Given the description of an element on the screen output the (x, y) to click on. 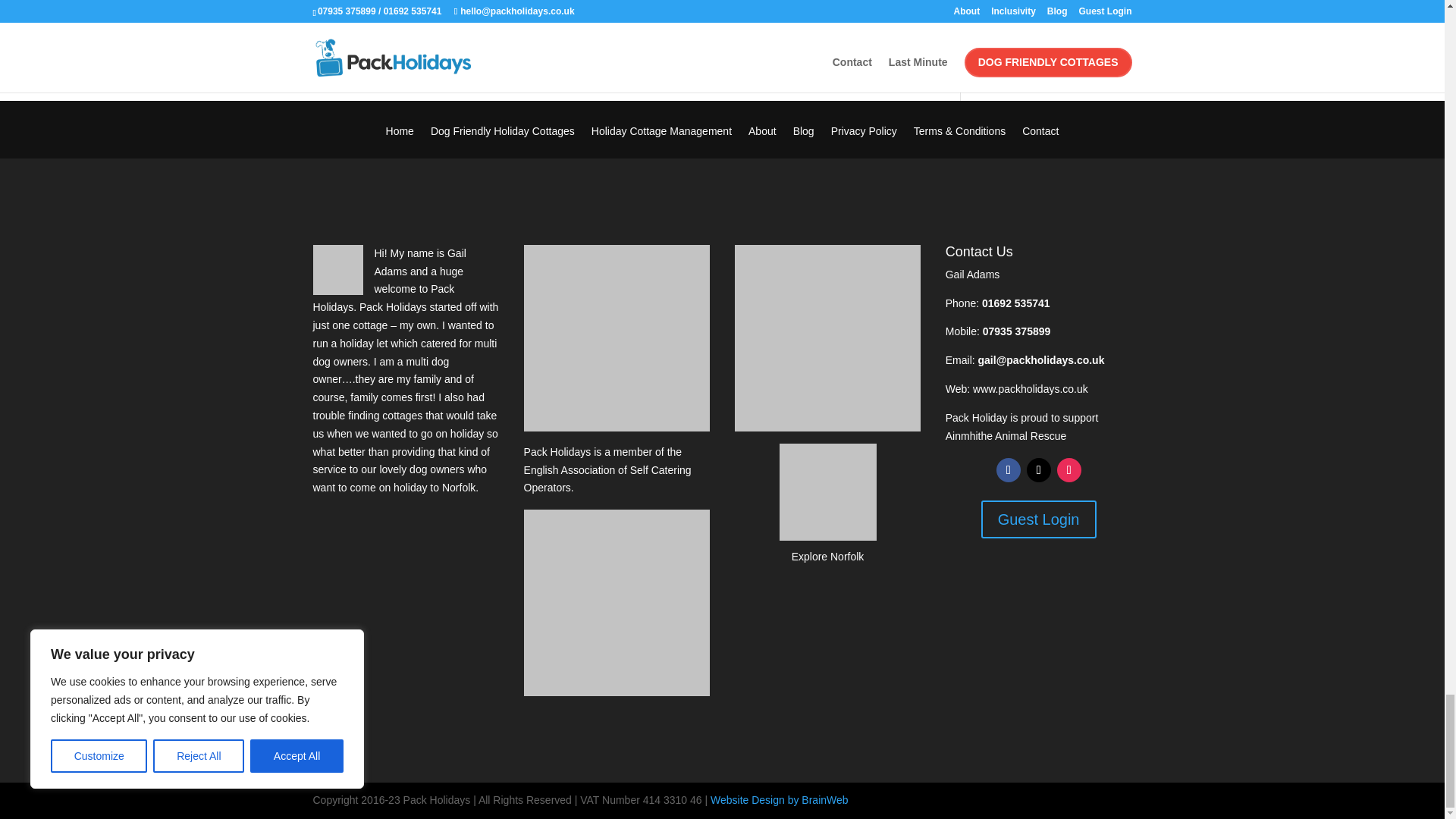
Follow on X (1038, 469)
Follow on Facebook (1007, 469)
Professional Association of Self Catering Operators (617, 337)
Follow on Instagram (1069, 469)
Booking Protect Logo (617, 602)
Find me on explorenorfolkuk.co.uk (828, 502)
